Given the description of an element on the screen output the (x, y) to click on. 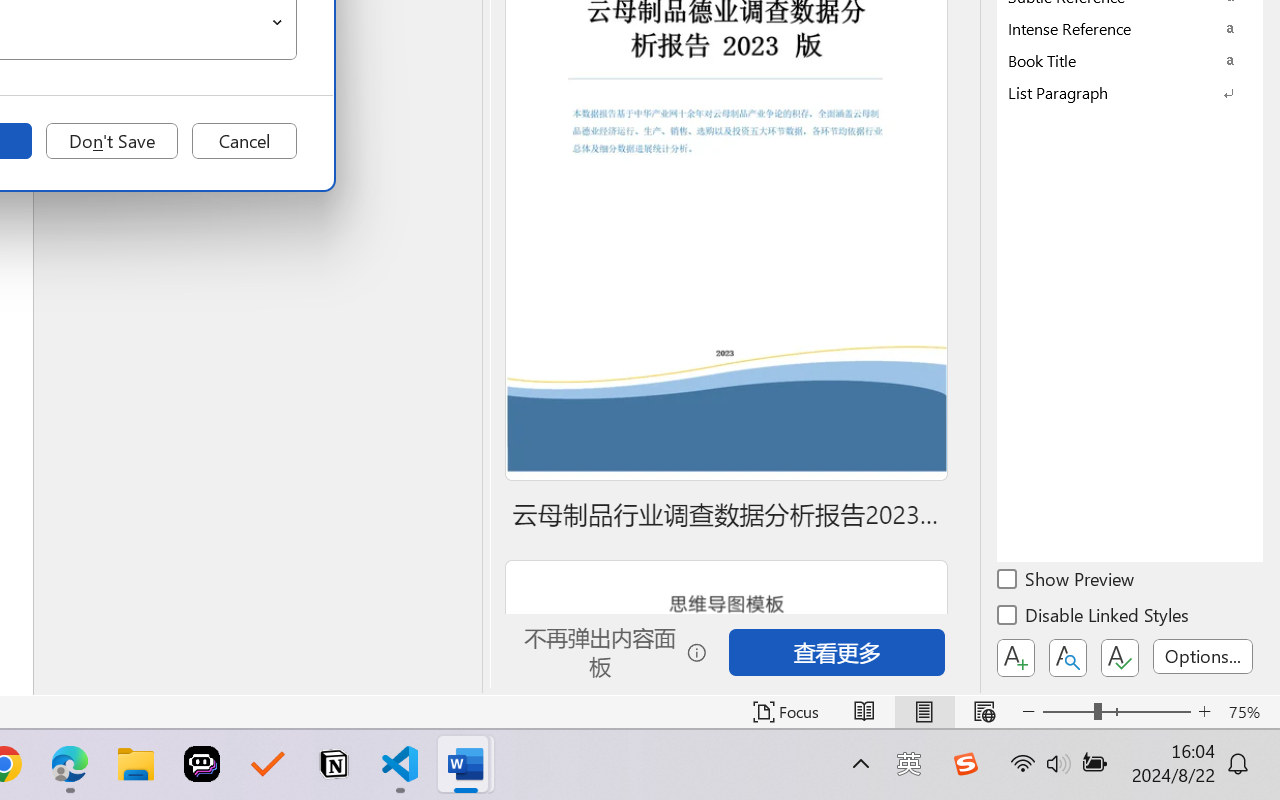
Don't Save (111, 141)
Class: NetUIButton (1119, 657)
Read Mode (864, 712)
Zoom Out (1067, 712)
Show Preview (1067, 582)
Web Layout (984, 712)
Zoom In (1204, 712)
List Paragraph (1130, 92)
